Given the description of an element on the screen output the (x, y) to click on. 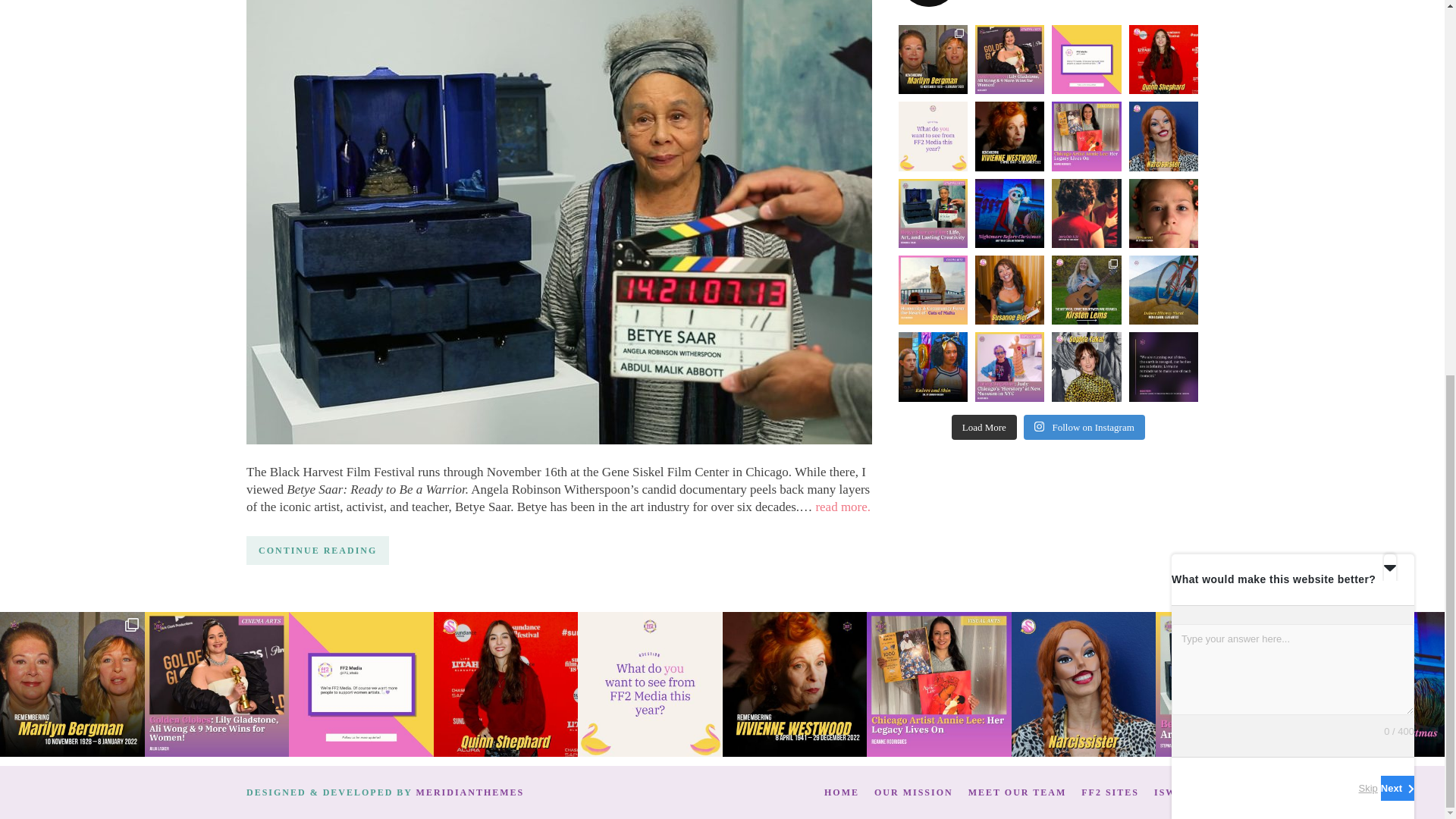
ff2media (1048, 3)
CONTINUE READING (317, 550)
read more. (842, 506)
